Given the description of an element on the screen output the (x, y) to click on. 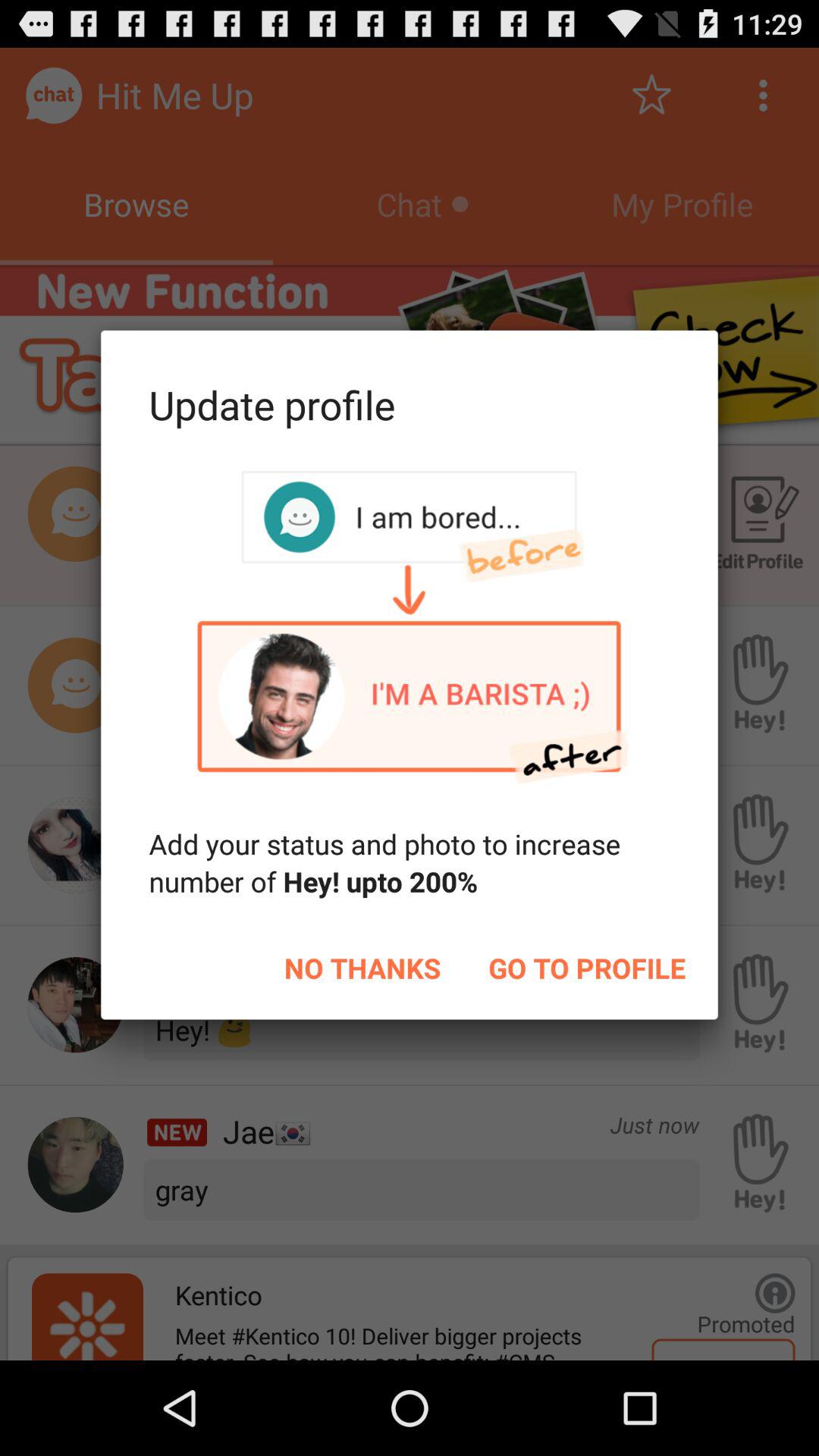
press item to the left of go to profile icon (362, 967)
